Given the description of an element on the screen output the (x, y) to click on. 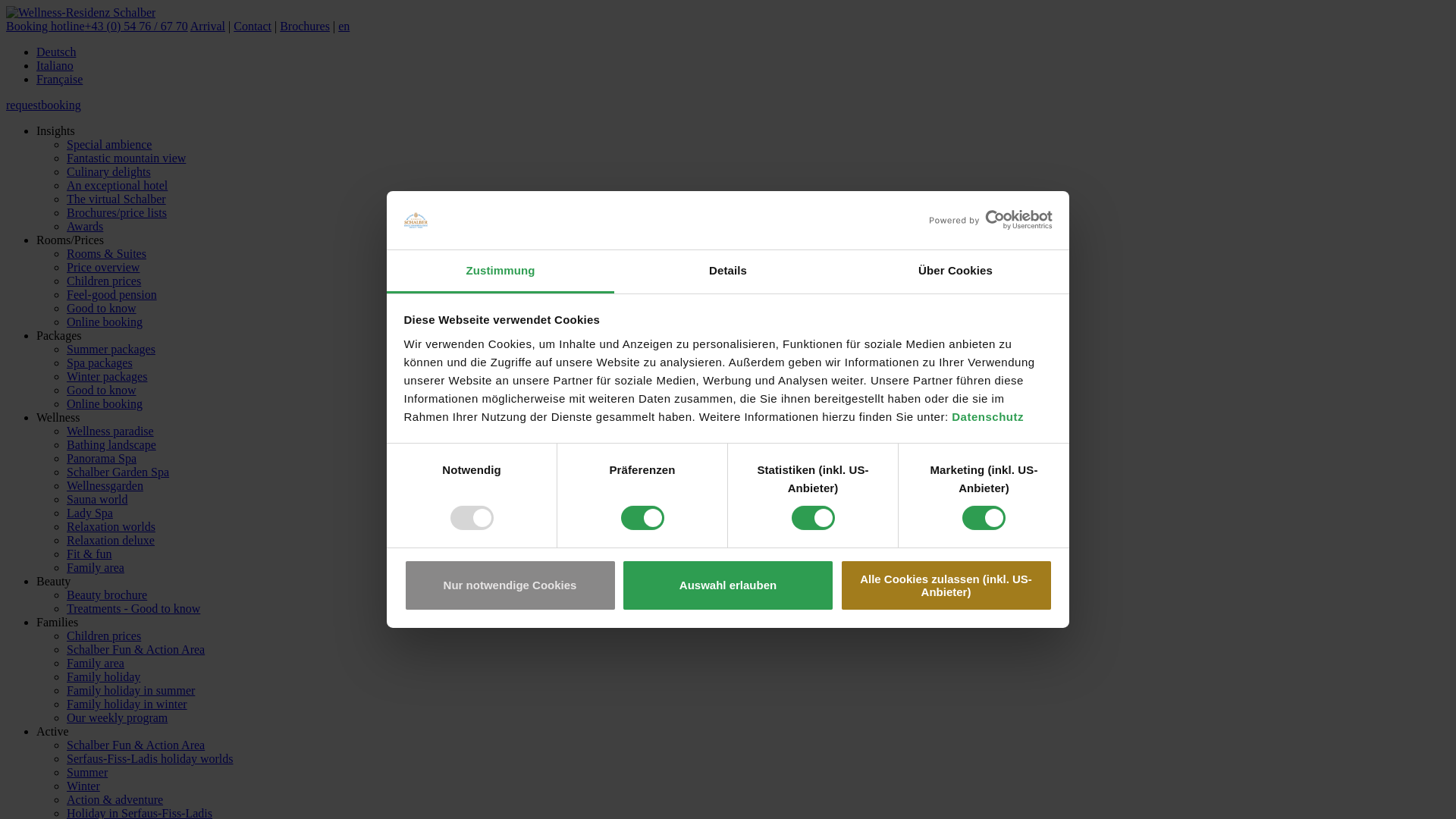
Zustimmung (500, 271)
Datenschutz (987, 416)
Details (727, 271)
